Given the description of an element on the screen output the (x, y) to click on. 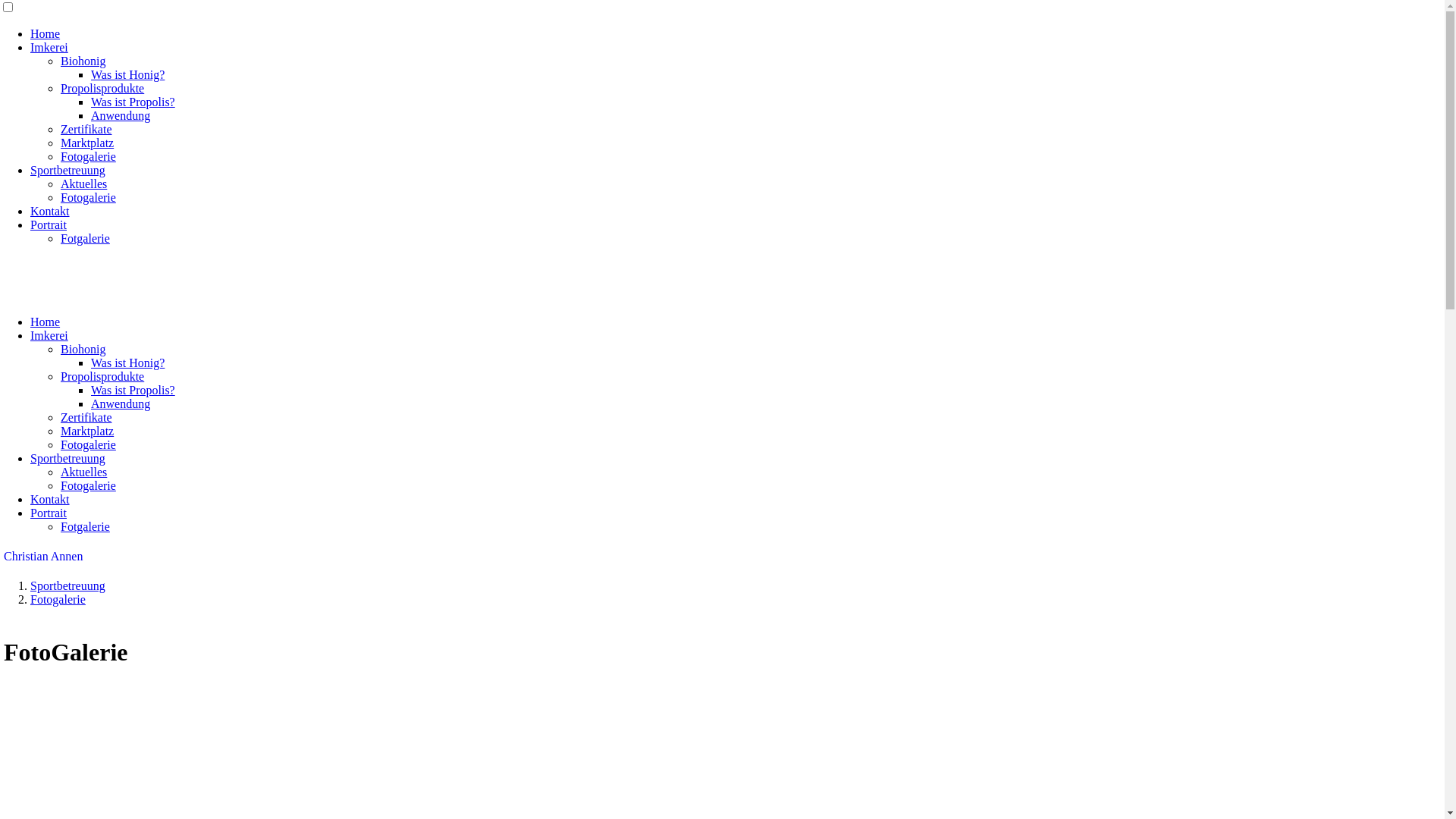
Zertifikate Element type: text (86, 417)
Was ist Honig? Element type: text (127, 362)
Aktuelles Element type: text (83, 183)
Fotogalerie Element type: text (88, 485)
Fotgalerie Element type: text (84, 238)
Sportbetreuung Element type: text (67, 457)
Sportbetreuung Element type: text (67, 585)
Biohonig Element type: text (83, 60)
Home Element type: text (44, 321)
Marktplatz Element type: text (86, 142)
Portrait Element type: text (48, 224)
Fotogalerie Element type: text (88, 156)
Anwendung Element type: text (120, 403)
Home Element type: text (44, 33)
Biohonig Element type: text (83, 348)
Sportbetreuung Element type: text (67, 169)
Anwendung Element type: text (120, 115)
Imkerei Element type: text (49, 335)
Christian Annen Element type: text (42, 555)
Was ist Propolis? Element type: text (133, 389)
Zertifikate Element type: text (86, 128)
Fotogalerie Element type: text (57, 599)
Propolisprodukte Element type: text (102, 87)
Fotogalerie Element type: text (88, 197)
Fotogalerie Element type: text (88, 444)
Kontakt Element type: text (49, 210)
Was ist Propolis? Element type: text (133, 101)
Propolisprodukte Element type: text (102, 376)
Aktuelles Element type: text (83, 471)
Imkerei Element type: text (49, 46)
Fotgalerie Element type: text (84, 526)
Marktplatz Element type: text (86, 430)
Kontakt Element type: text (49, 498)
Portrait Element type: text (48, 512)
Was ist Honig? Element type: text (127, 74)
